Given the description of an element on the screen output the (x, y) to click on. 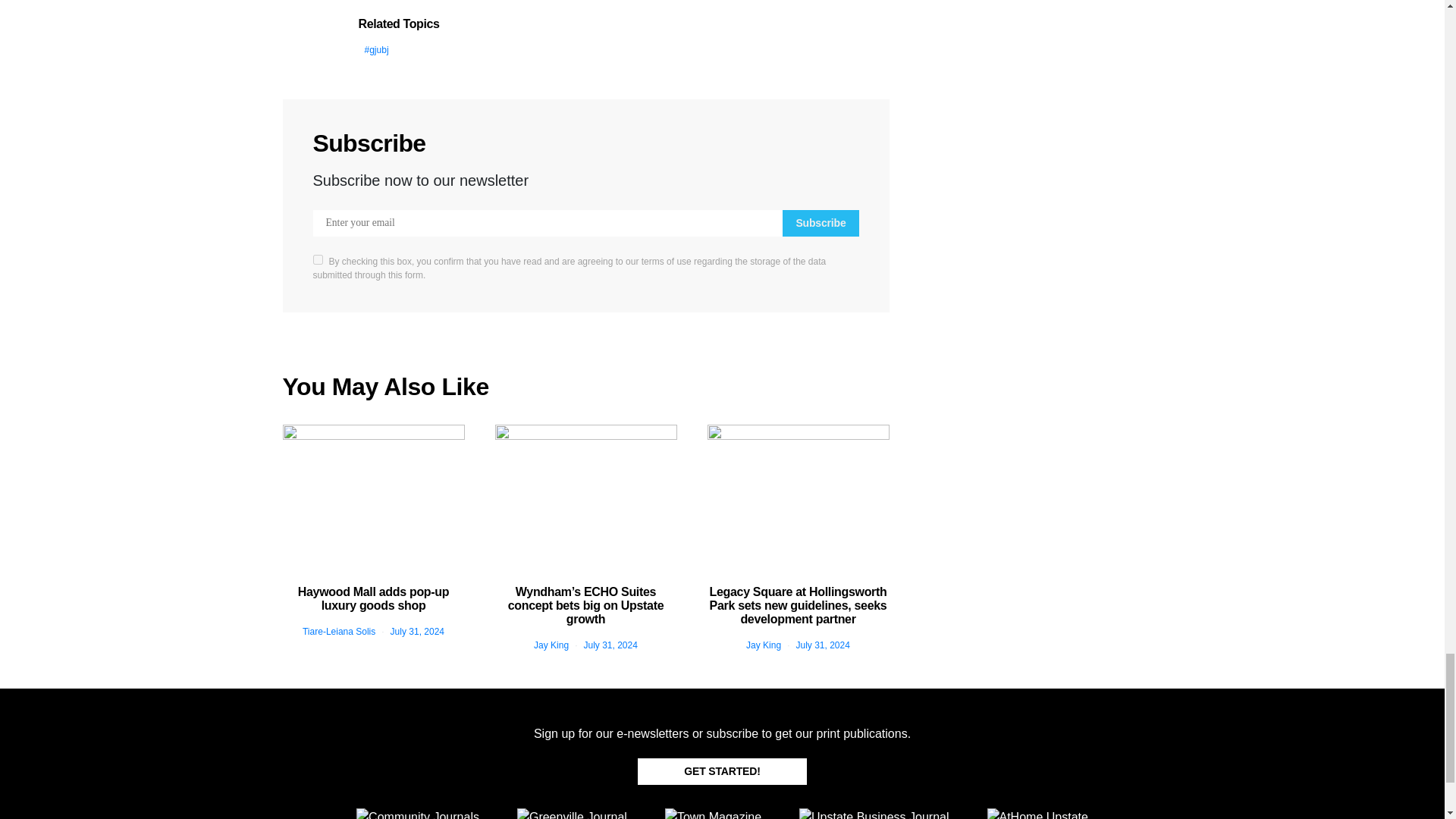
View all posts by Jay King (762, 644)
on (317, 259)
View all posts by Tiare-Leiana Solis (338, 631)
View all posts by Jay King (551, 644)
